Given the description of an element on the screen output the (x, y) to click on. 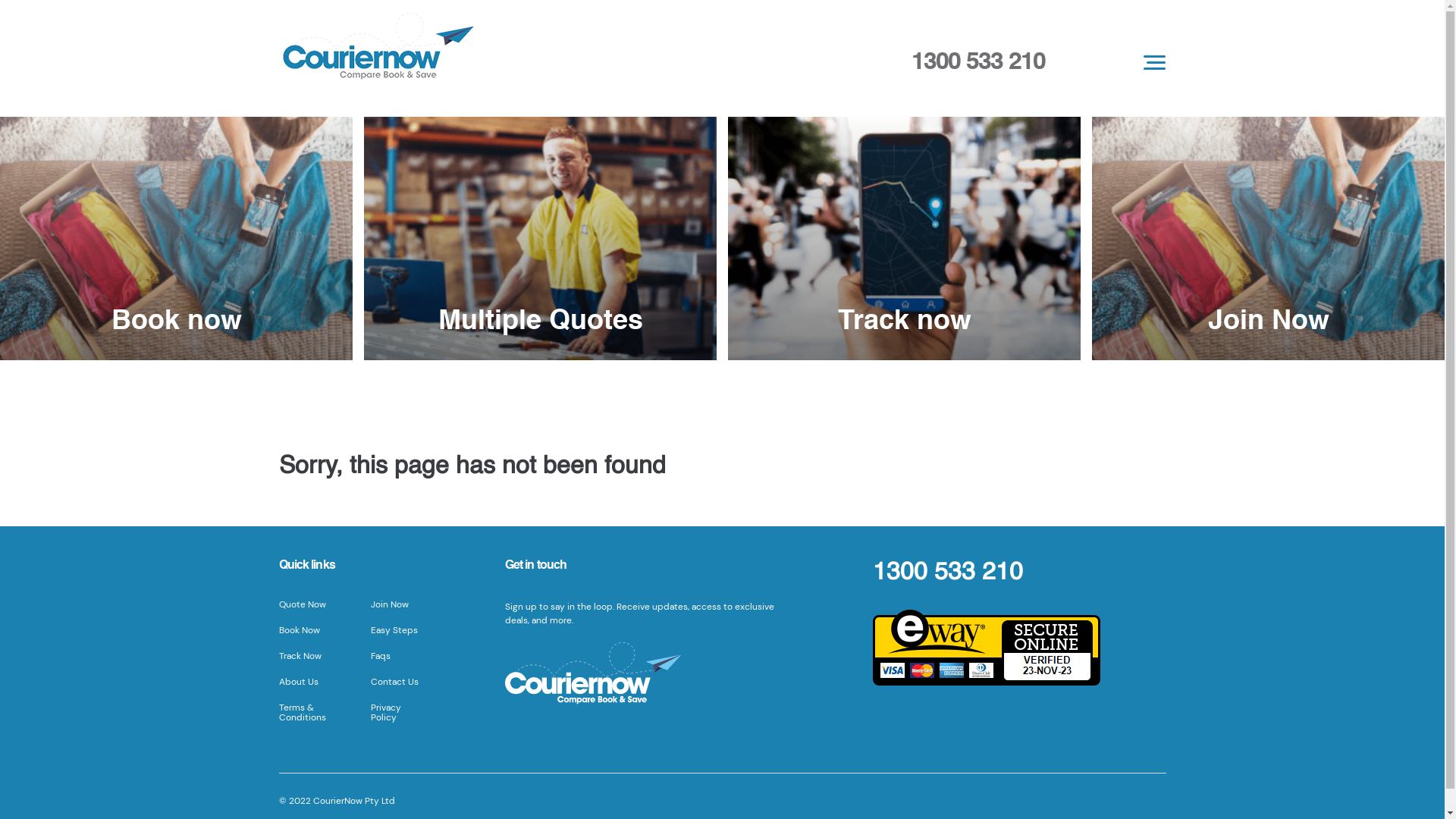
Join Now Element type: text (1268, 238)
Contact Us Element type: text (394, 681)
1300 533 210 Element type: text (947, 572)
Terms & Conditions Element type: text (302, 712)
Track now Element type: text (904, 238)
Track Now Element type: text (300, 655)
About Us Element type: text (298, 681)
Book now Element type: text (176, 238)
Faqs Element type: text (380, 655)
Privacy Policy Element type: text (385, 712)
Multiple Quotes Element type: text (540, 238)
Couriernow Element type: hover (540, 50)
Quote Now Element type: text (302, 604)
Book Now Element type: text (299, 630)
1300 533 210 Element type: text (978, 62)
Easy Steps Element type: text (393, 630)
Join Now Element type: text (389, 604)
